Given the description of an element on the screen output the (x, y) to click on. 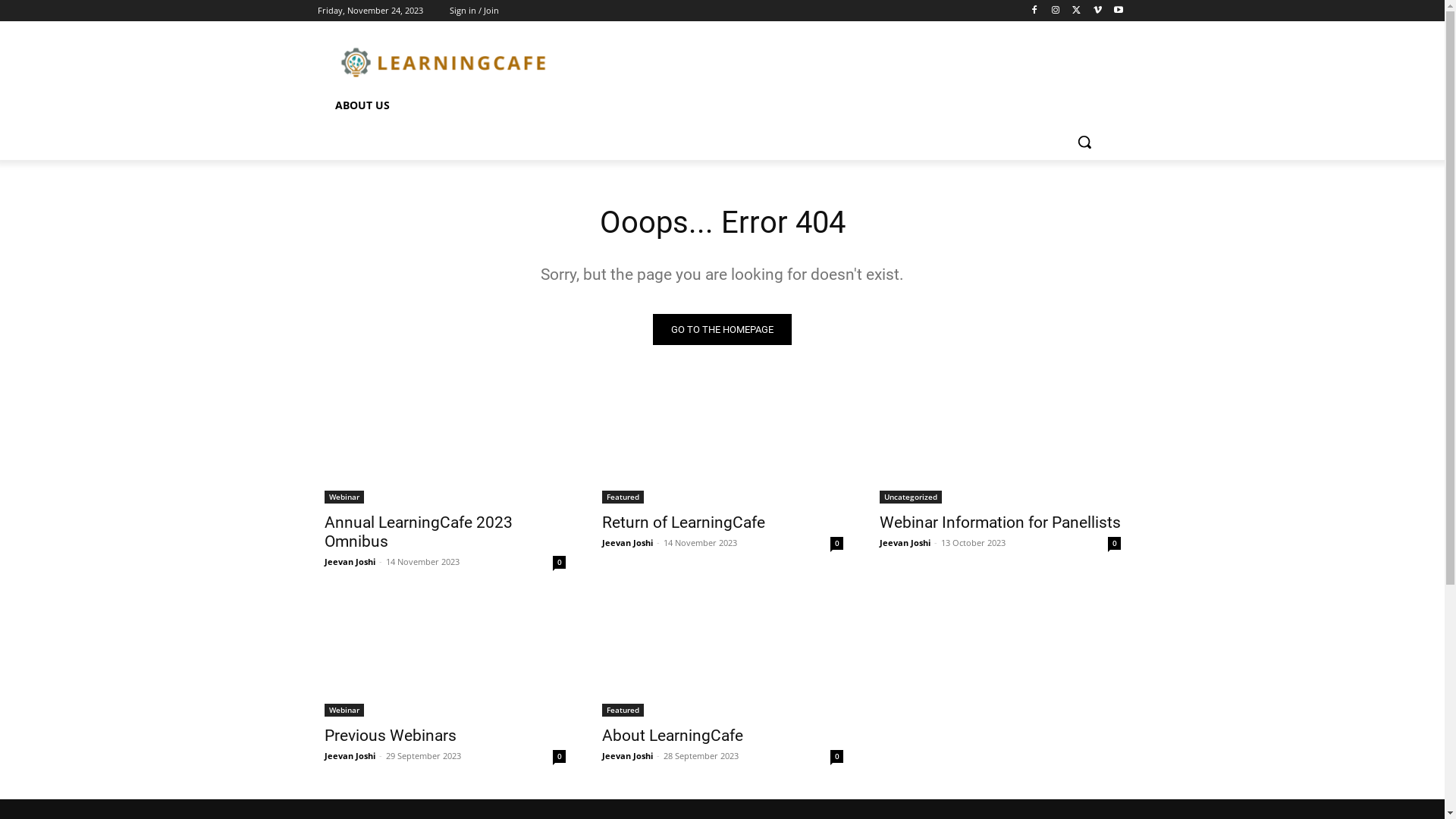
0 Element type: text (835, 755)
About LearningCafe Element type: text (672, 735)
0 Element type: text (1113, 542)
Youtube Element type: hover (1118, 9)
Webinar Element type: text (344, 709)
Vimeo Element type: hover (1097, 9)
ABOUT US Element type: text (362, 105)
Annual LearningCafe 2023 Omnibus Element type: hover (444, 442)
Return of LearningCafe Element type: hover (722, 442)
0 Element type: text (835, 542)
0 Element type: text (558, 755)
Jeevan Joshi Element type: text (904, 542)
Jeevan Joshi Element type: text (349, 755)
Featured Element type: text (622, 496)
LearningCafe Element type: hover (443, 61)
About LearningCafe Element type: hover (722, 656)
Jeevan Joshi Element type: text (627, 755)
Facebook Element type: hover (1034, 9)
Webinar Information for Panellists Element type: text (999, 522)
Featured Element type: text (622, 709)
Jeevan Joshi Element type: text (627, 542)
Previous Webinars Element type: text (390, 735)
Instagram Element type: hover (1054, 9)
0 Element type: text (558, 561)
Webinar Information for Panellists Element type: hover (999, 442)
Annual LearningCafe 2023 Omnibus Element type: text (418, 531)
GO TO THE HOMEPAGE Element type: text (721, 329)
Sign in / Join Element type: text (473, 10)
Webinar Element type: text (344, 496)
Twitter Element type: hover (1076, 9)
Return of LearningCafe Element type: text (683, 522)
Jeevan Joshi Element type: text (349, 561)
Previous Webinars Element type: hover (444, 656)
Uncategorized Element type: text (910, 496)
